Given the description of an element on the screen output the (x, y) to click on. 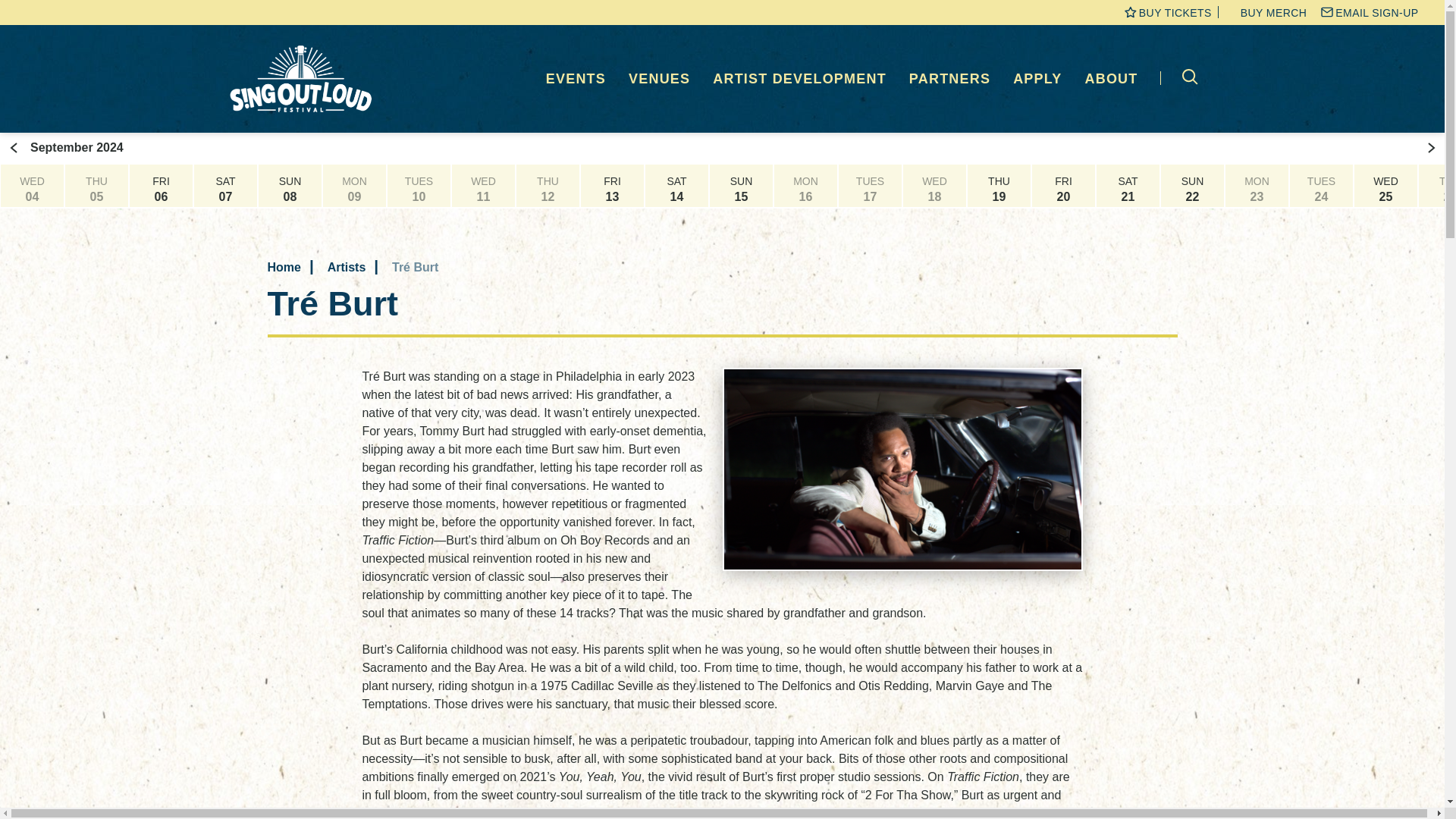
EMAIL SIGN-UP (1376, 12)
ARTIST DEVELOPMENT (799, 78)
ABOUT (1112, 78)
APPLY (1037, 78)
EVENTS (575, 78)
PARTNERS (949, 78)
Sing Out Loud (303, 78)
VENUES (659, 78)
BUY MERCH (1273, 12)
BUY TICKETS (1174, 12)
